Given the description of an element on the screen output the (x, y) to click on. 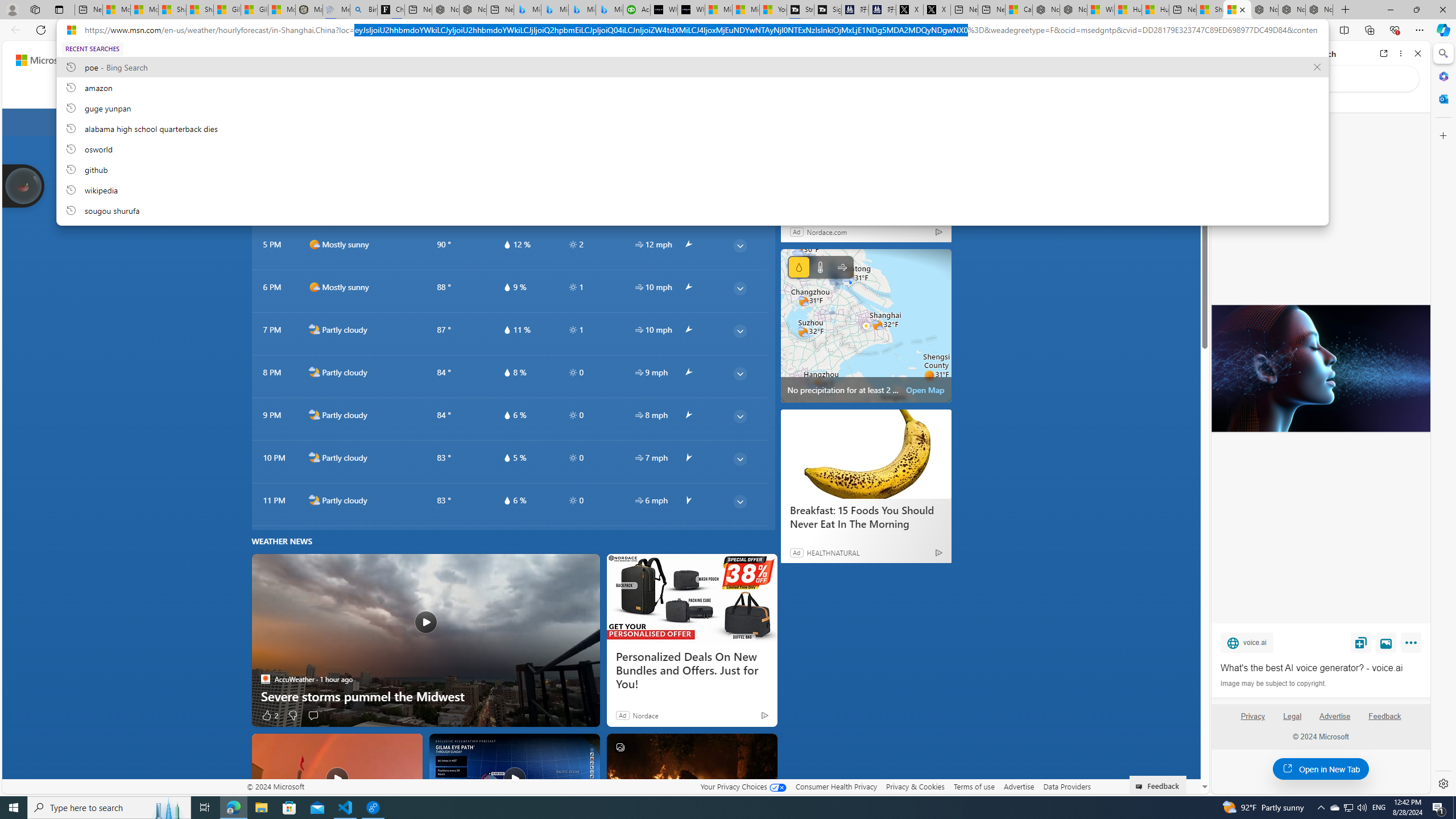
Terms of use (973, 785)
Streaming Coverage | T3 (799, 9)
